Given the description of an element on the screen output the (x, y) to click on. 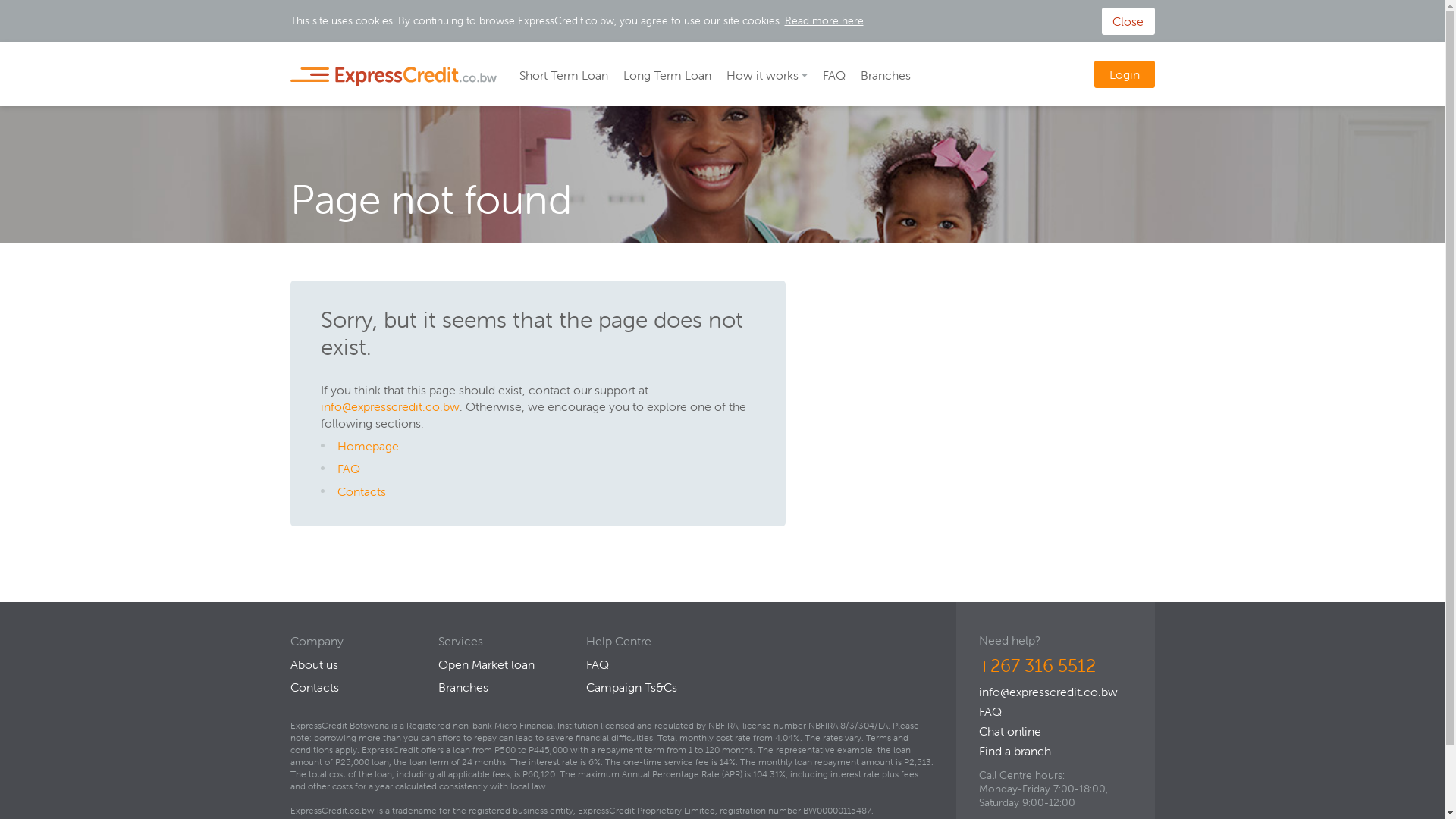
Close Element type: text (1127, 20)
Contacts Element type: text (313, 686)
info@expresscredit.co.bw Element type: text (389, 406)
Campaign Ts&Cs Element type: text (630, 686)
info@expresscredit.co.bw Element type: text (1047, 691)
FAQ Element type: text (596, 663)
Branches Element type: text (884, 74)
Short Term Loan Element type: text (562, 74)
Login Element type: text (1123, 73)
FAQ Element type: text (833, 74)
Branches Element type: text (463, 686)
Read more here Element type: text (823, 20)
Chat online Element type: text (1009, 730)
Long Term Loan Element type: text (667, 74)
Homepage Element type: text (367, 445)
FAQ Element type: text (989, 710)
Open Market loan Element type: text (486, 663)
How it works Element type: text (766, 74)
Contacts Element type: text (360, 490)
About us Element type: text (313, 663)
Find a branch Element type: text (1014, 750)
+267 316 5512 Element type: text (1036, 665)
FAQ Element type: text (347, 468)
